Given the description of an element on the screen output the (x, y) to click on. 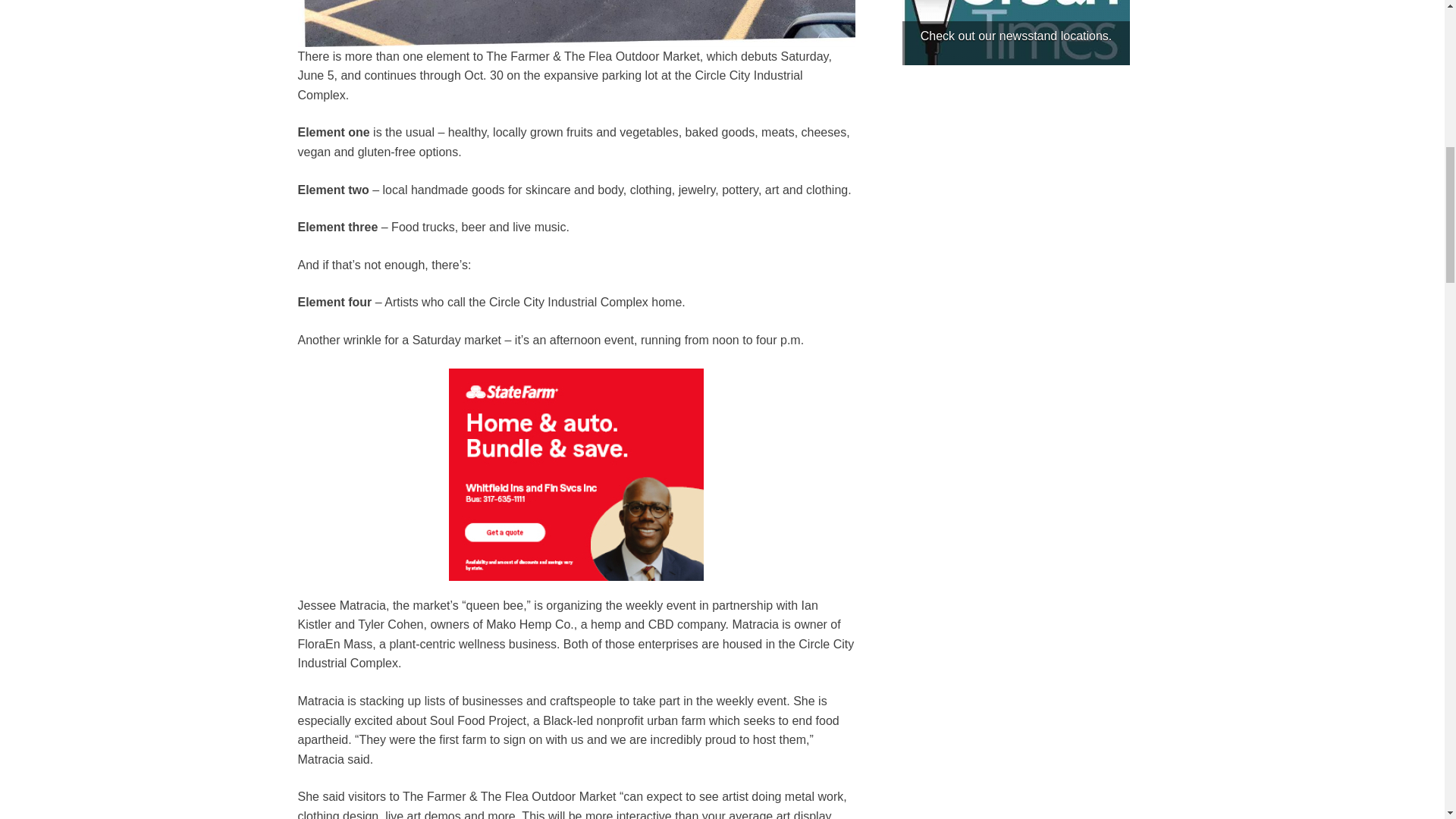
Newsstand Locations (1015, 32)
RossAug (575, 474)
